Given the description of an element on the screen output the (x, y) to click on. 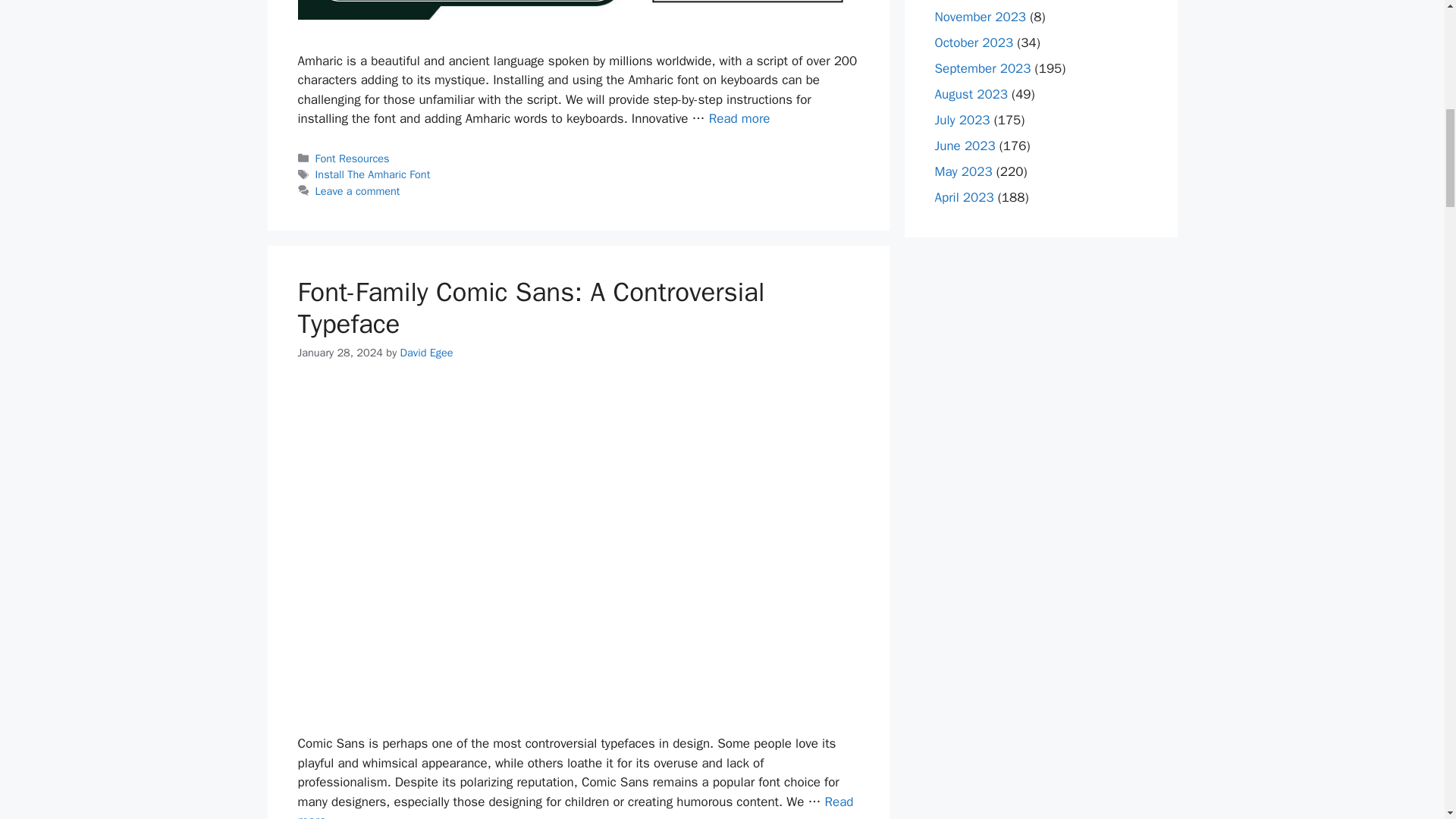
Font-Family Comic Sans: A Controversial Typeface (575, 806)
Leave a comment (357, 191)
Read more (575, 806)
How To Install The Amharic Font (739, 118)
View all posts by David Egee (426, 352)
David Egee (426, 352)
Font Resources (352, 158)
Read more (739, 118)
Font-Family Comic Sans: A Controversial Typeface (530, 307)
Install The Amharic Font (372, 173)
